Given the description of an element on the screen output the (x, y) to click on. 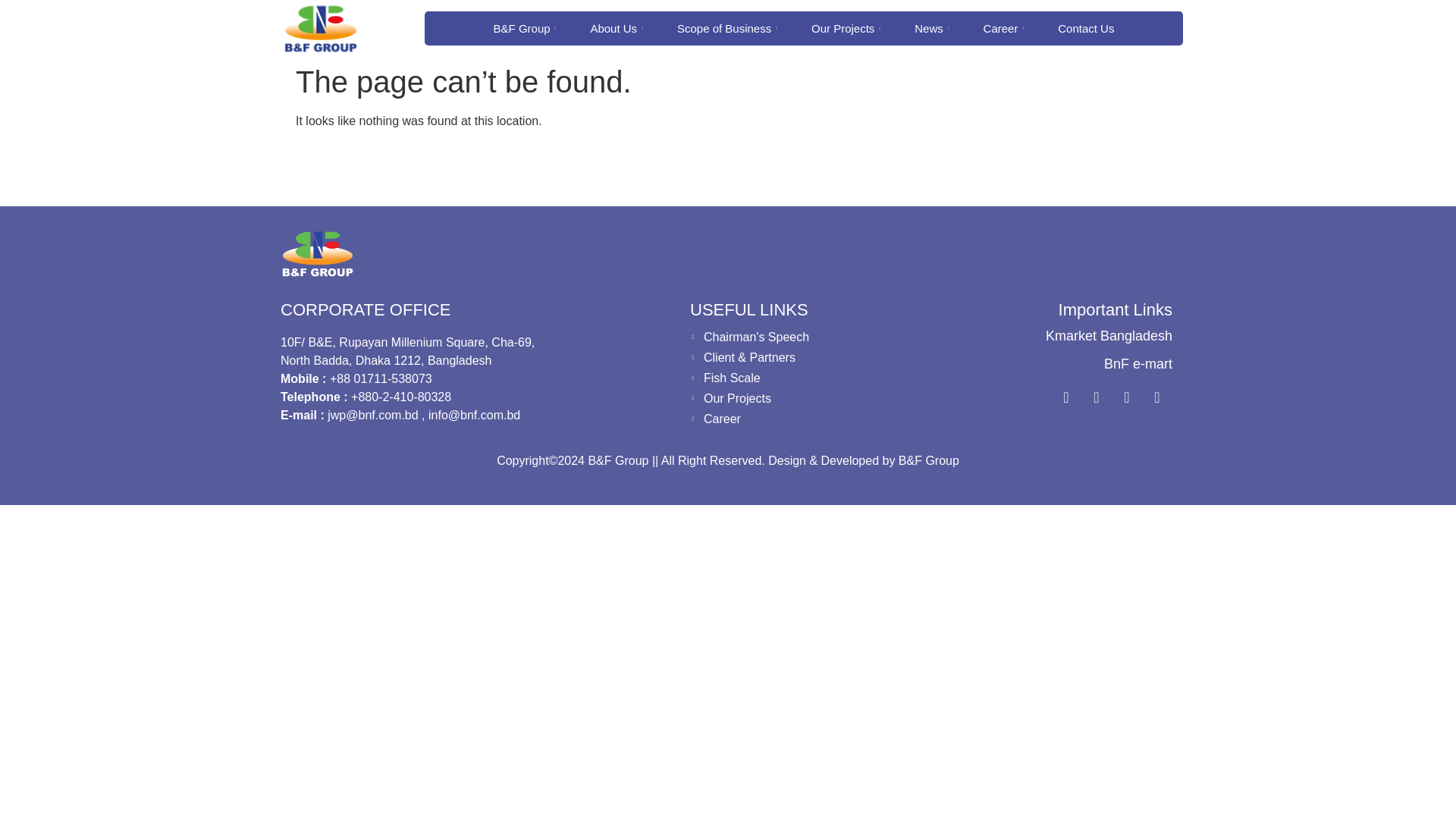
About Us (618, 28)
Scope of Business (729, 28)
Our Projects (847, 28)
